Given the description of an element on the screen output the (x, y) to click on. 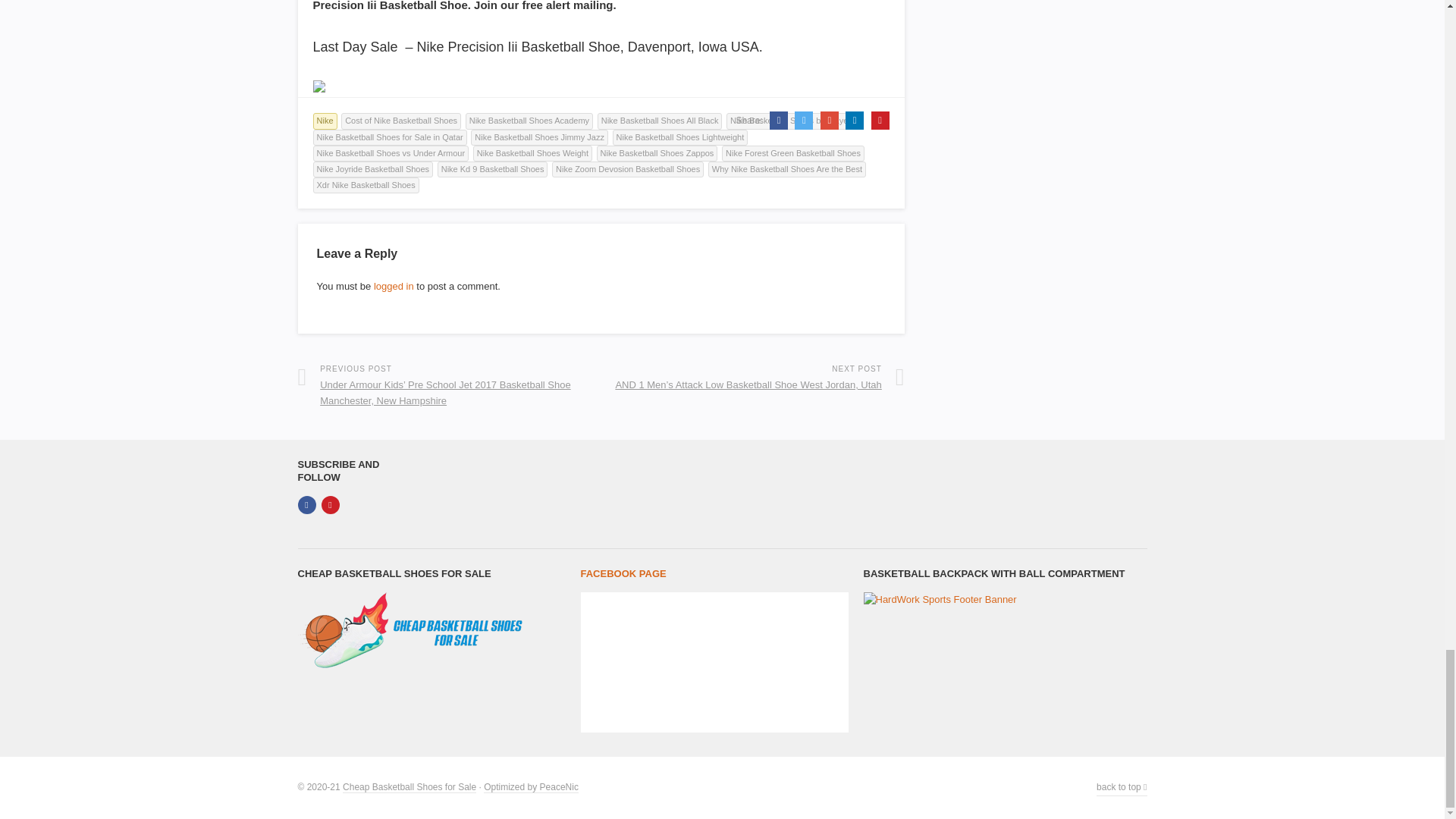
Cost of Nike Basketball Shoes (400, 120)
Nike Basketball Shoes All Black (659, 120)
Nike Basketball Shoes Academy (528, 120)
Nike (324, 120)
